Given the description of an element on the screen output the (x, y) to click on. 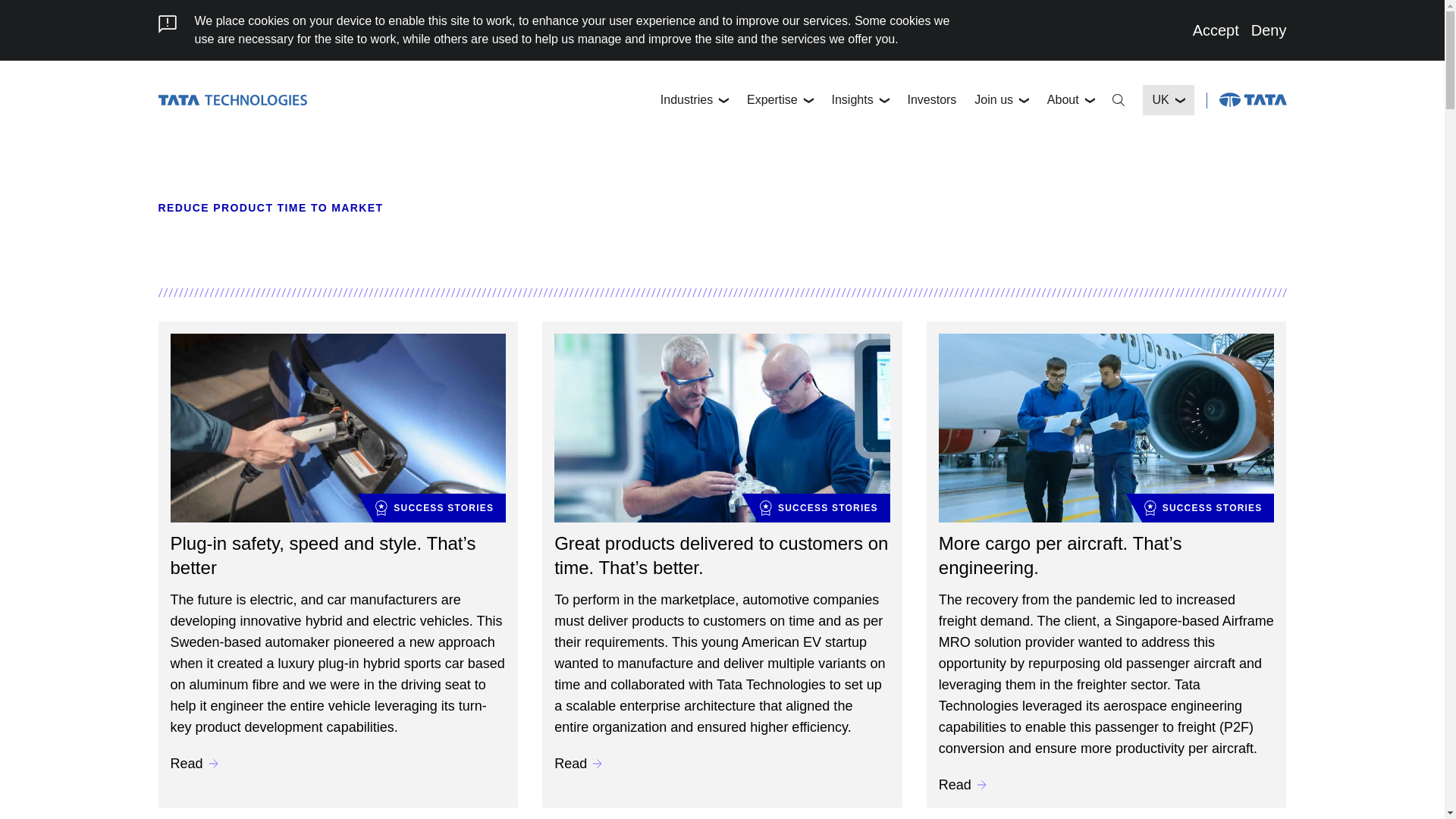
Investors (931, 100)
Insights (860, 100)
Search (1118, 100)
Accept (1215, 29)
Deny (1268, 29)
UK (1167, 100)
About (1070, 100)
UK (1167, 100)
Join us (1001, 100)
Expertise (780, 100)
Industries (694, 100)
